Given the description of an element on the screen output the (x, y) to click on. 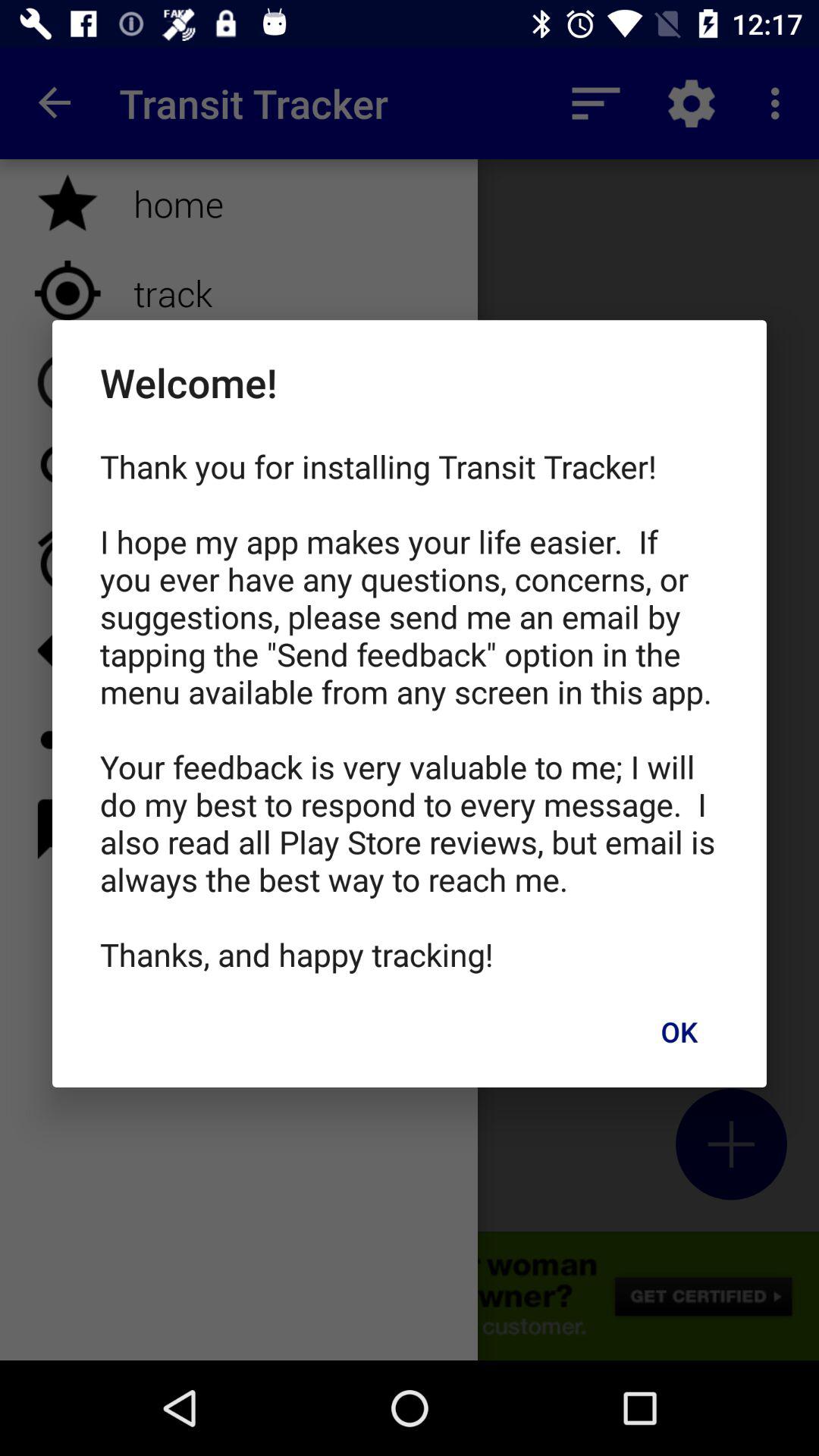
press the ok button (678, 1031)
